Given the description of an element on the screen output the (x, y) to click on. 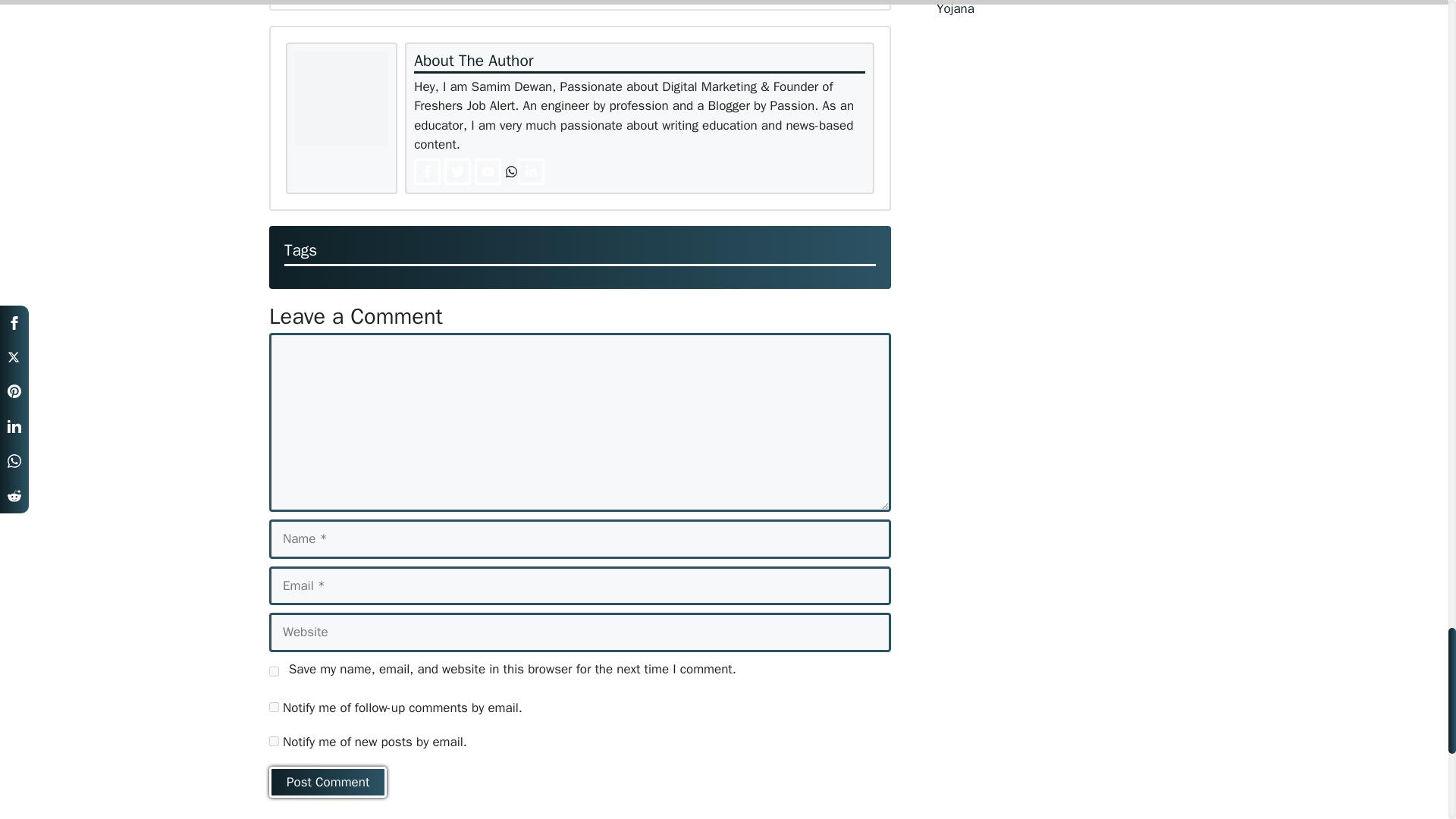
yes (274, 671)
Post Comment (328, 782)
subscribe (274, 706)
subscribe (274, 741)
